Given the description of an element on the screen output the (x, y) to click on. 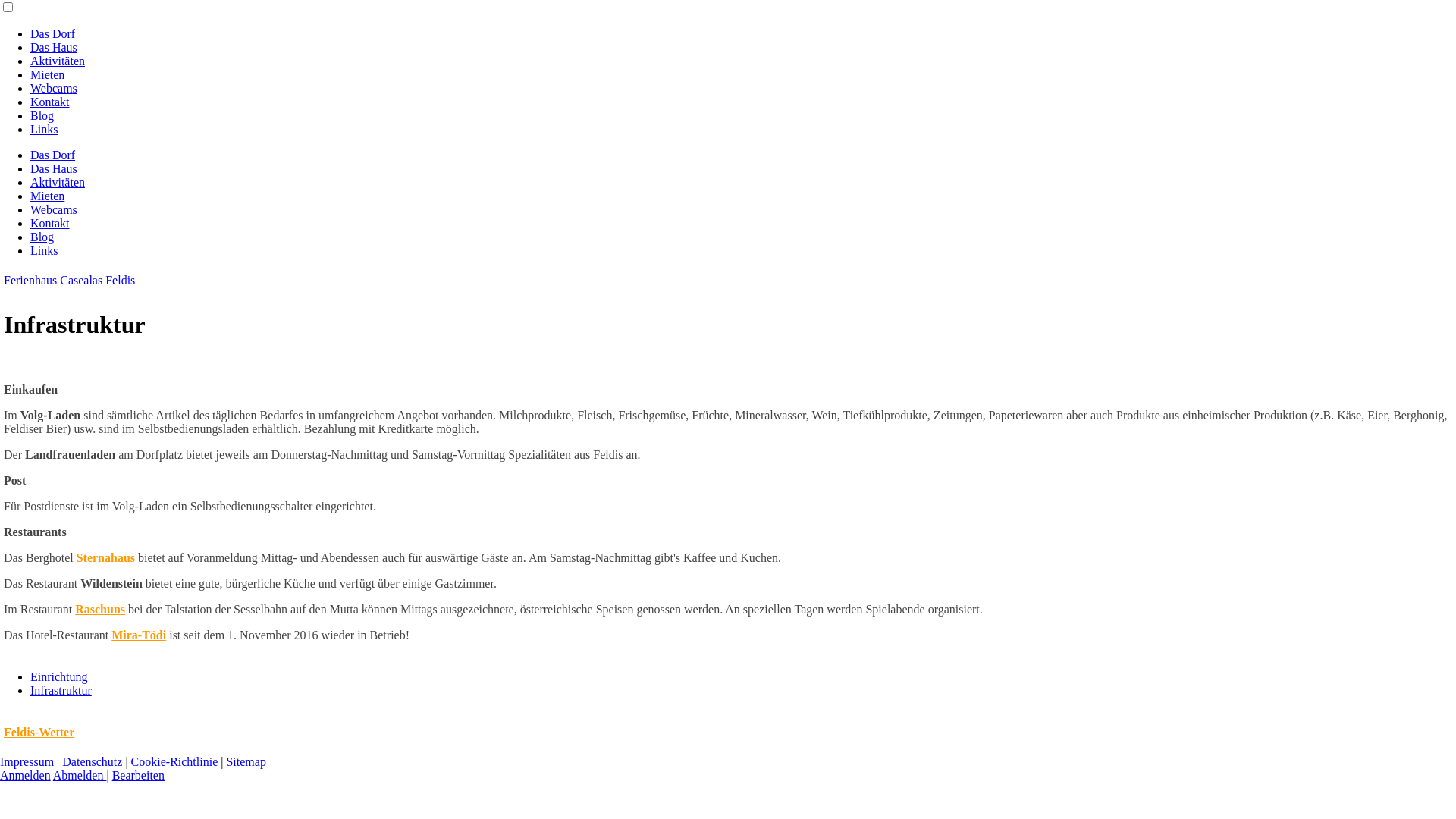
Blog Element type: text (41, 236)
Webcams Element type: text (53, 87)
Das Dorf Element type: text (52, 154)
Kontakt Element type: text (49, 222)
Sternahaus Element type: text (105, 557)
Blog Element type: text (41, 115)
Links Element type: text (43, 128)
Feldis-Wetter Element type: text (38, 731)
Abmelden Element type: text (79, 774)
Links Element type: text (43, 250)
Impressum Element type: text (26, 761)
Mieten Element type: text (47, 74)
Anmelden Element type: text (25, 774)
Bearbeiten Element type: text (138, 774)
Kontakt Element type: text (49, 101)
Raschuns Element type: text (100, 608)
Cookie-Richtlinie Element type: text (174, 761)
Datenschutz Element type: text (92, 761)
Sitemap Element type: text (245, 761)
Das Haus Element type: text (53, 168)
Das Dorf Element type: text (52, 33)
Webcams Element type: text (53, 209)
Einrichtung Element type: text (58, 676)
Das Haus Element type: text (53, 46)
Ferienhaus Casealas Feldis Element type: text (68, 279)
Infrastruktur Element type: text (60, 690)
Mieten Element type: text (47, 195)
